Given the description of an element on the screen output the (x, y) to click on. 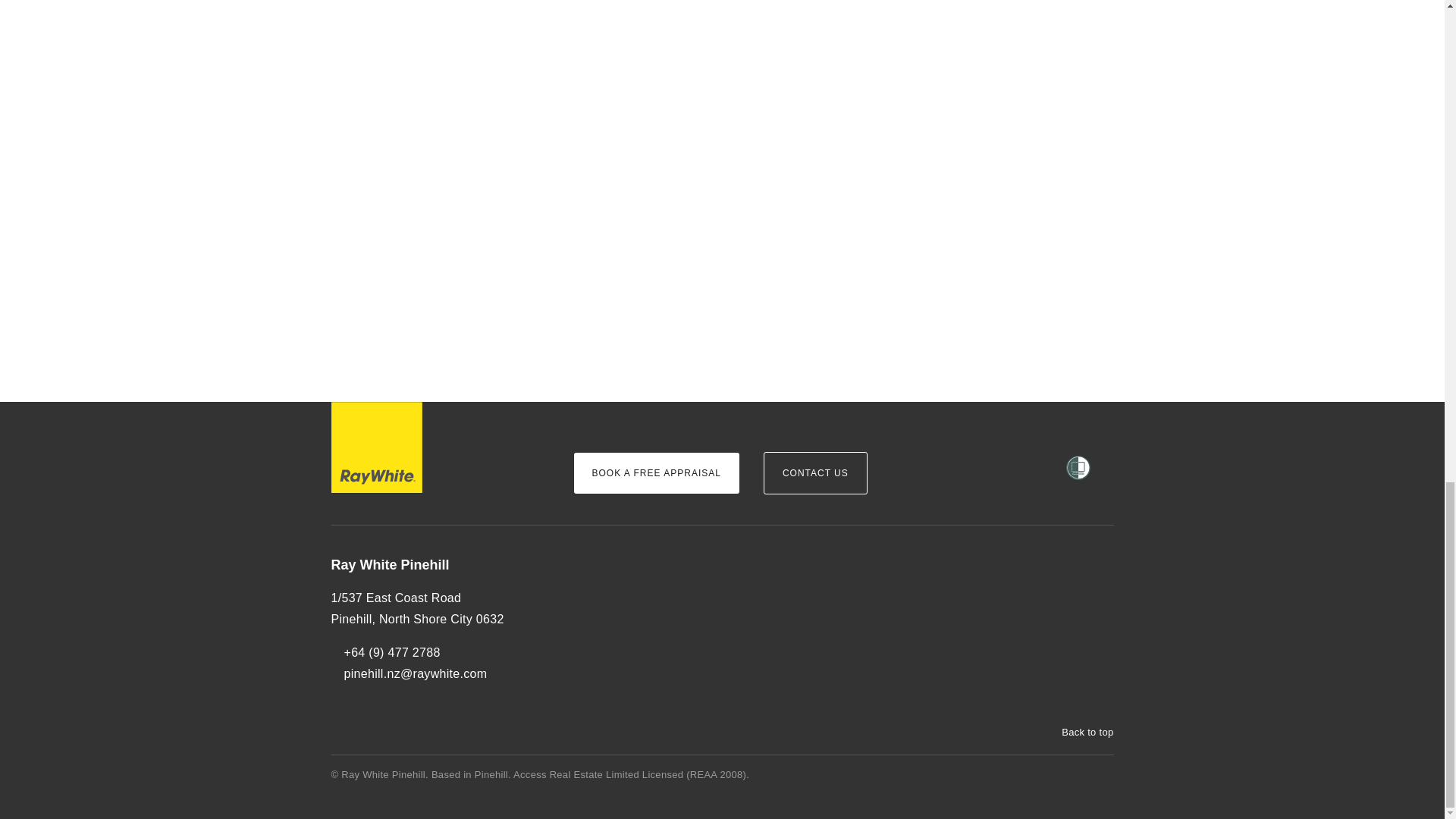
CONTACT US (814, 473)
Ray White Pinehill (439, 565)
Back to top (1079, 732)
Ray White (376, 447)
BOOK A FREE APPRAISAL (655, 472)
